Given the description of an element on the screen output the (x, y) to click on. 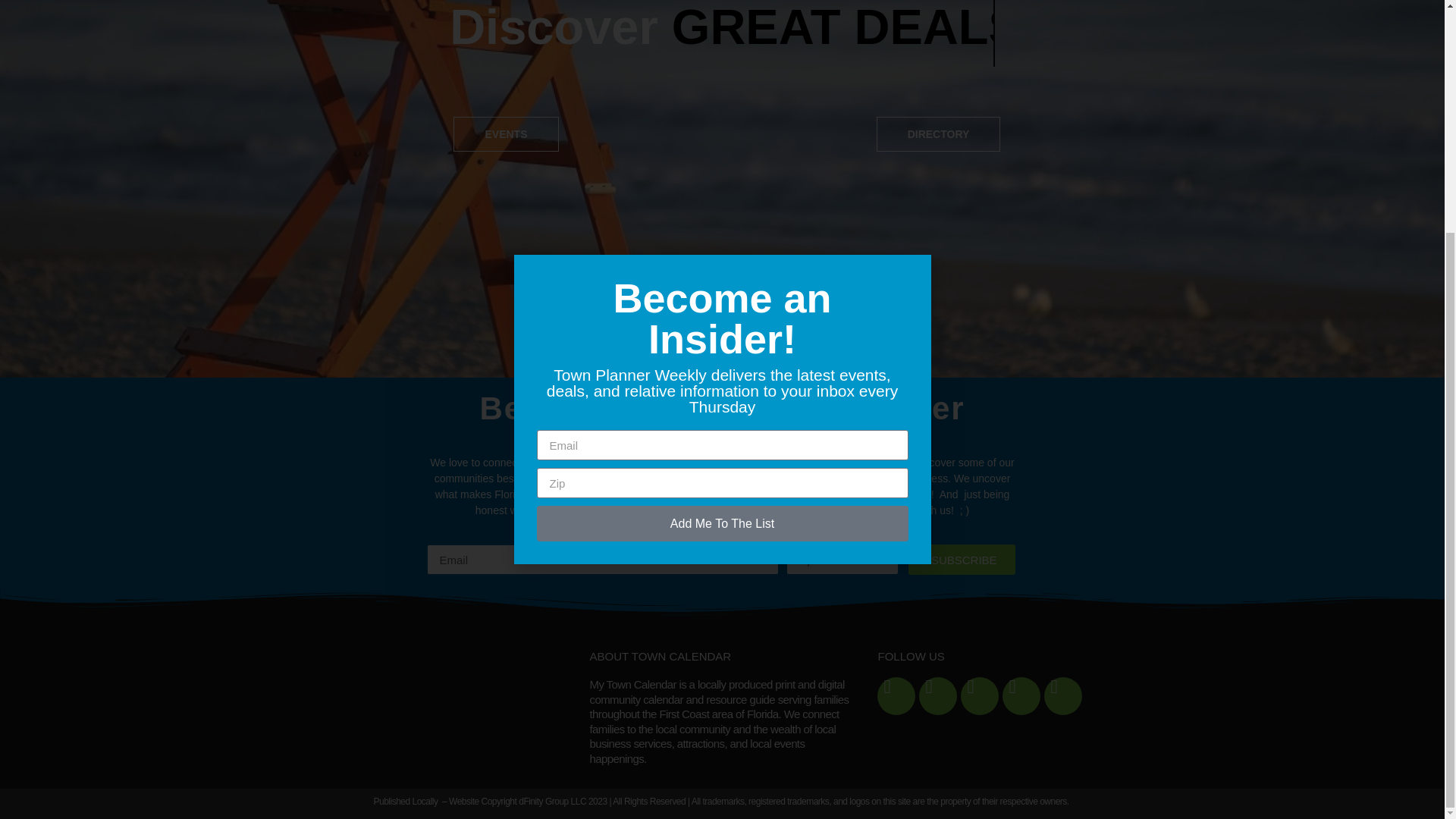
DIRECTORY (938, 134)
SUBSCRIBE (961, 559)
Add Me To The List (722, 208)
EVENTS (504, 134)
